Given the description of an element on the screen output the (x, y) to click on. 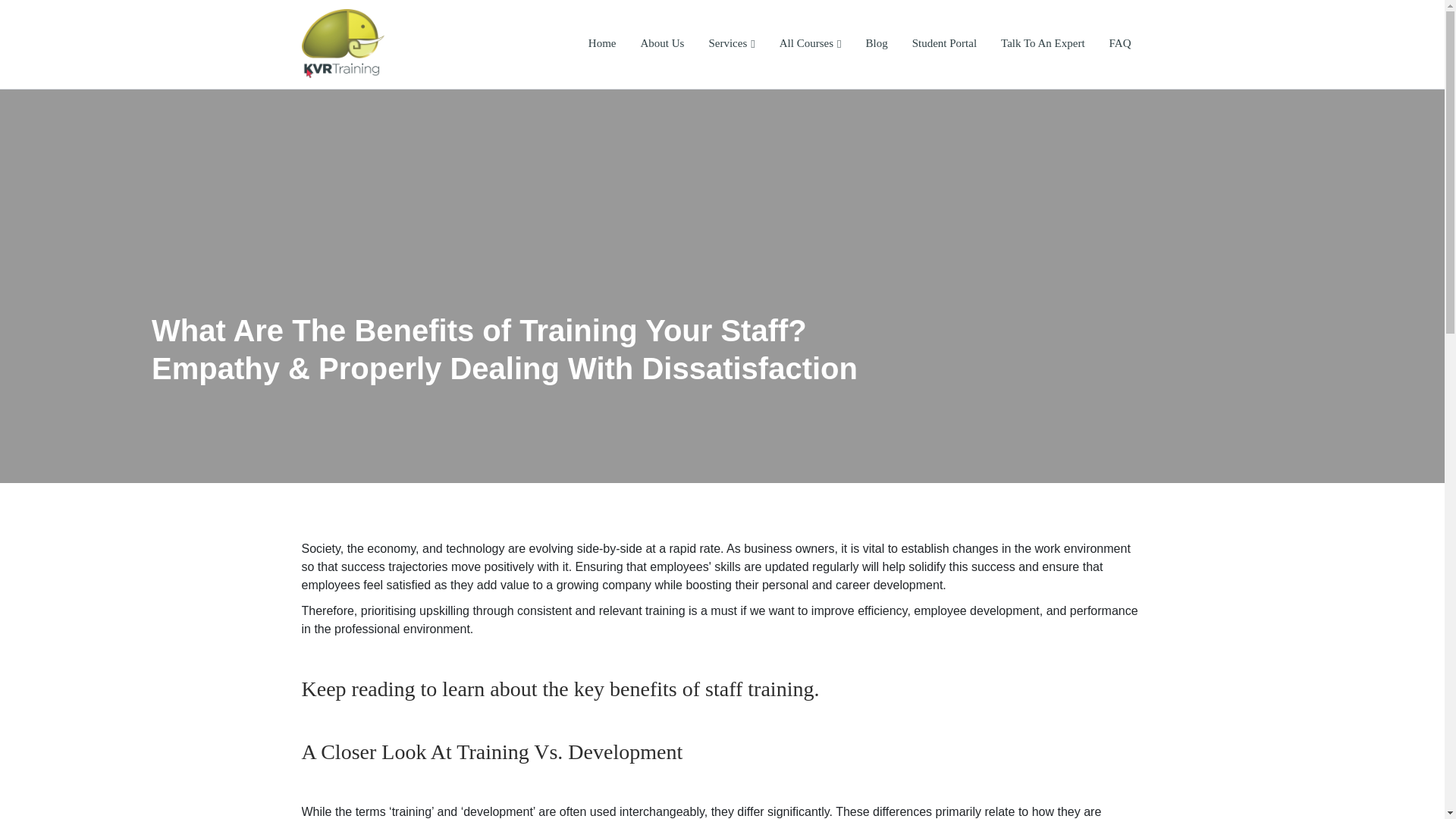
Home (602, 43)
About Us (661, 43)
Services (731, 43)
All Courses (810, 43)
